Given the description of an element on the screen output the (x, y) to click on. 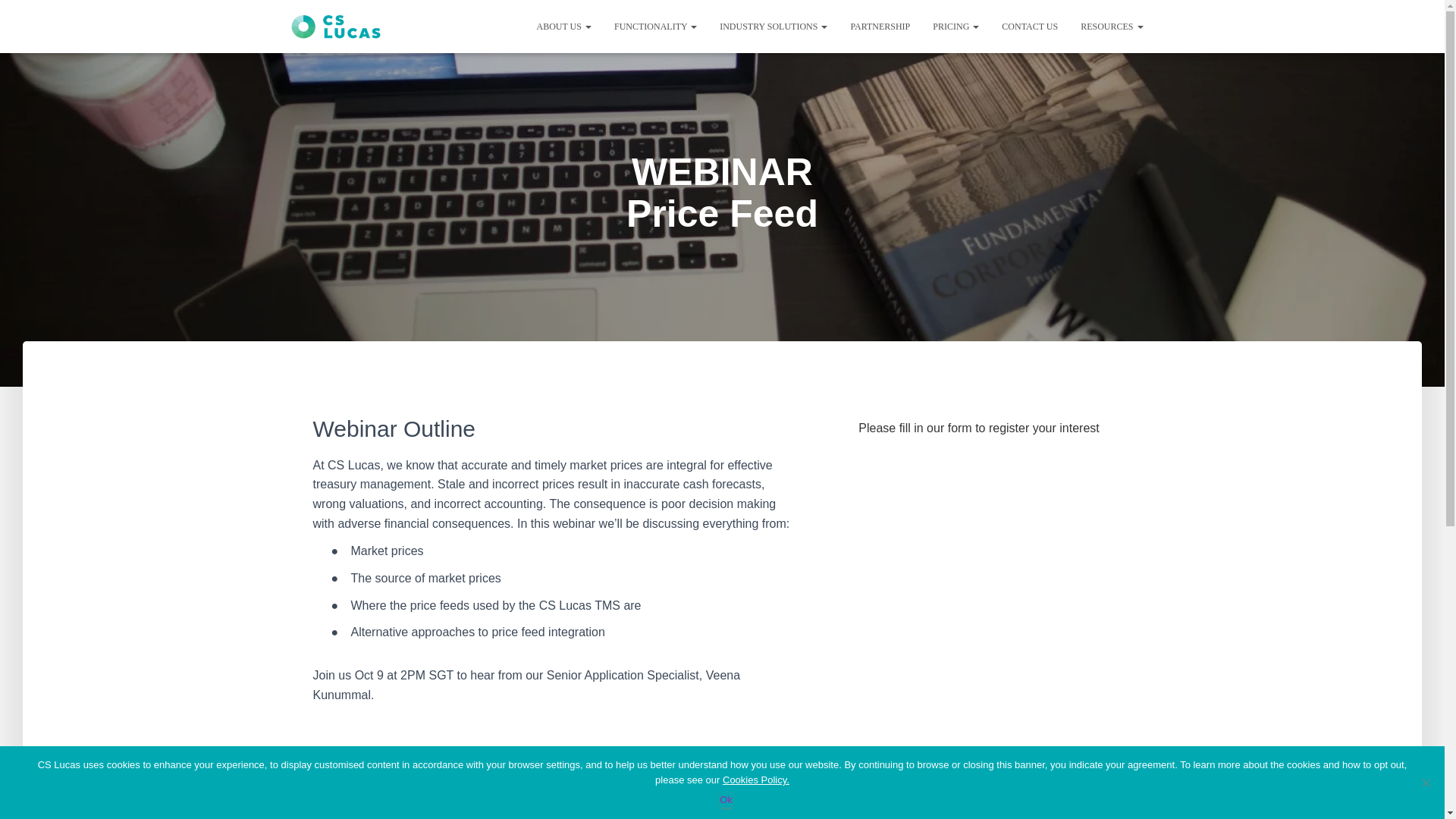
About Us (563, 26)
CS Lucas (336, 26)
FUNCTIONALITY (654, 26)
ABOUT US (563, 26)
CONTACT US (1029, 26)
INDUSTRY SOLUTIONS (772, 26)
Functionality (654, 26)
PARTNERSHIP (879, 26)
Industry Solutions (772, 26)
PRICING (955, 26)
RESOURCES (1111, 26)
